Given the description of an element on the screen output the (x, y) to click on. 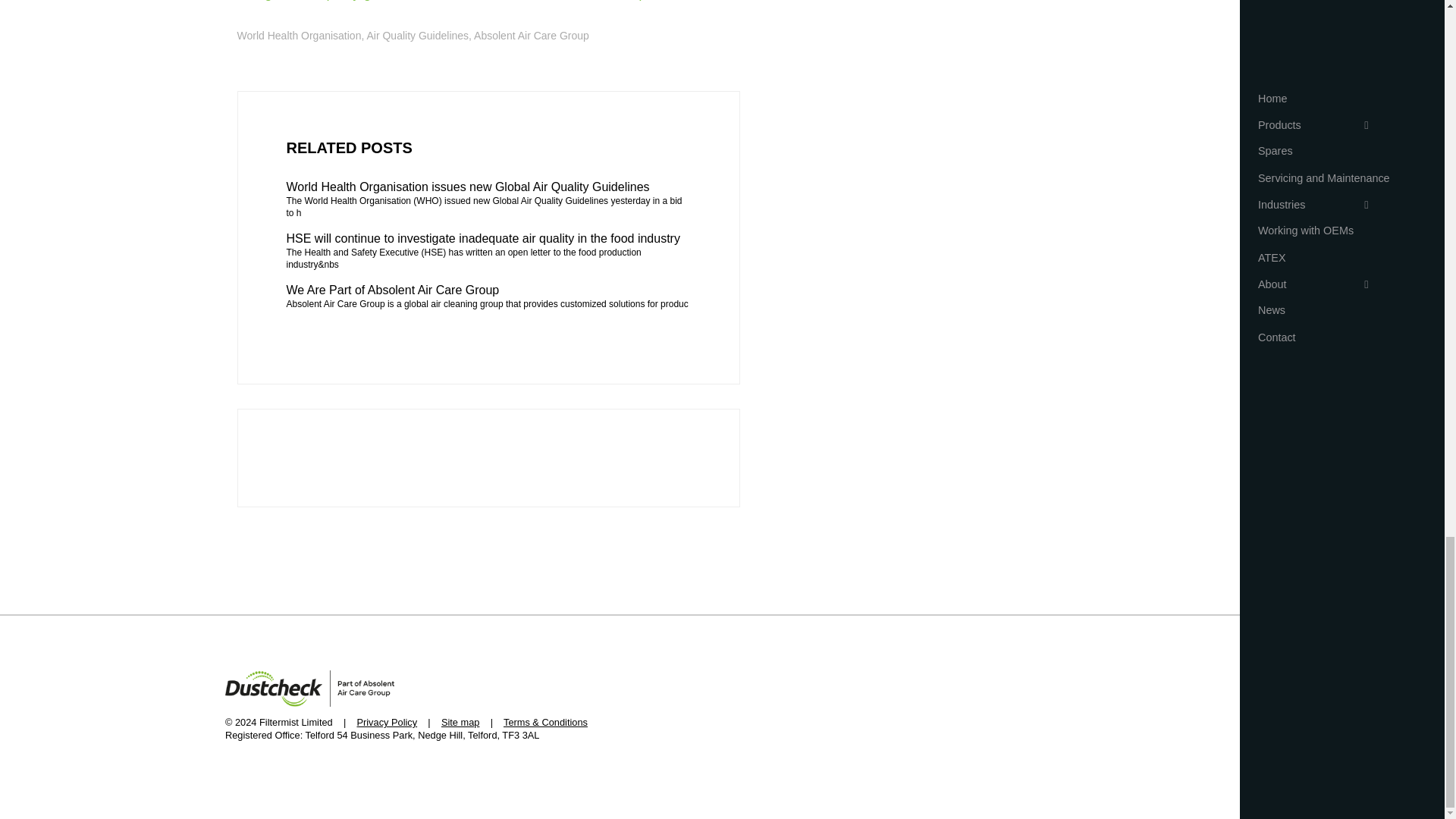
Air Quality Guidelines (417, 35)
We Are Part of Absolent Air Care Group (488, 290)
World Health Organisation (298, 35)
Absolent Air Care Group (531, 35)
